Given the description of an element on the screen output the (x, y) to click on. 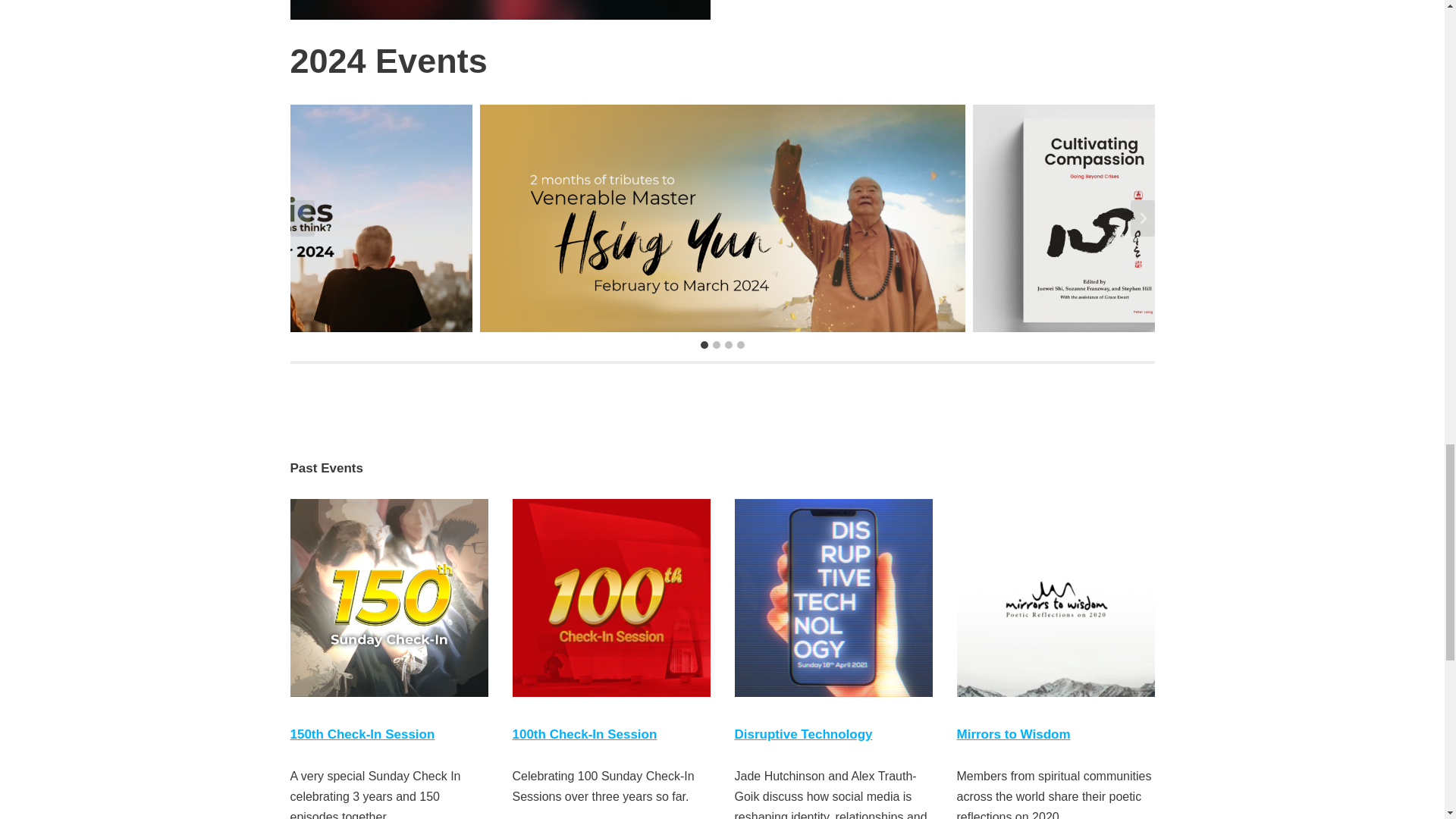
100th Check-In Session (585, 734)
150th Check-In Session (361, 734)
Disruptive Technology (802, 734)
